Given the description of an element on the screen output the (x, y) to click on. 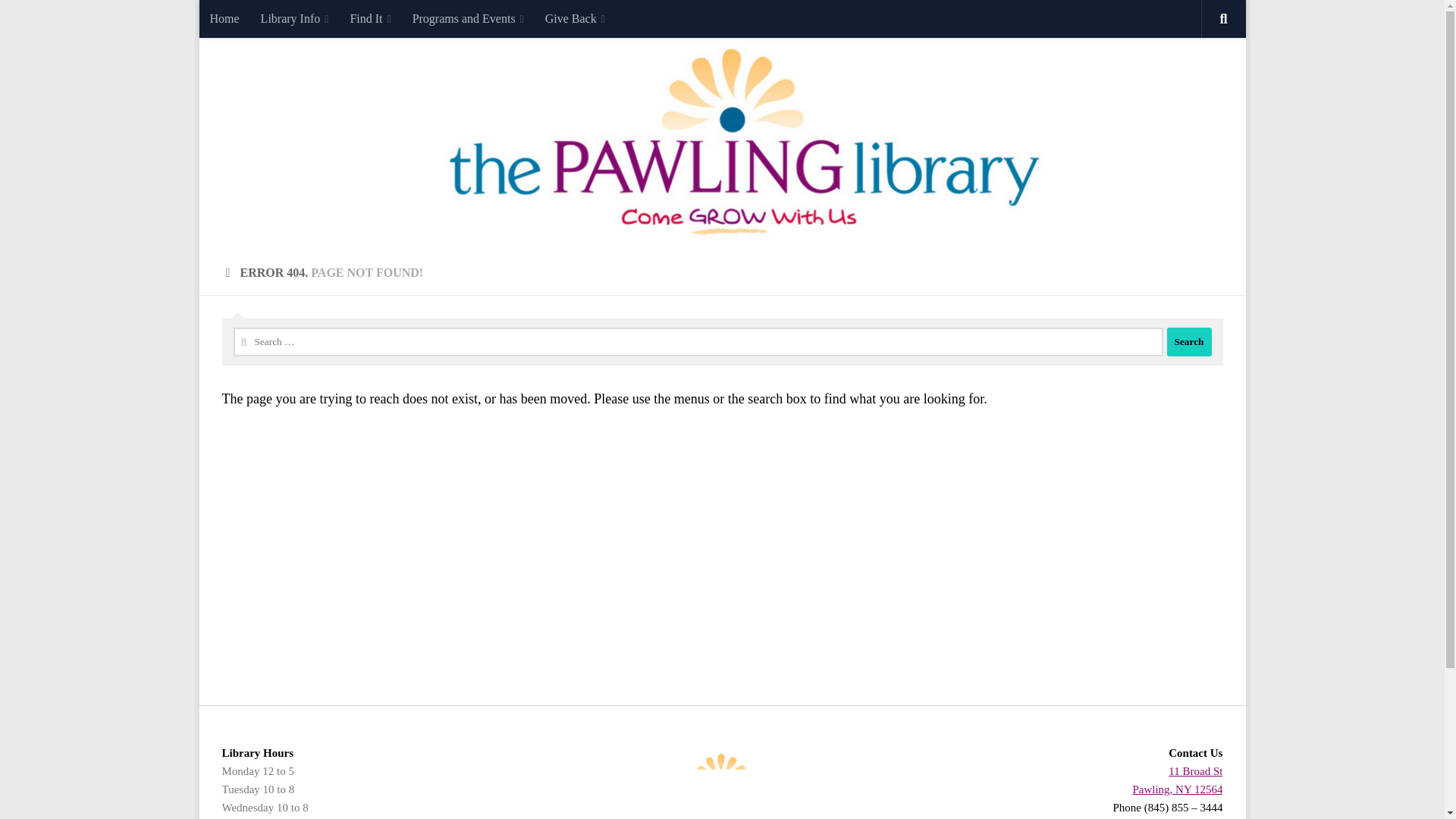
Skip to content (258, 20)
Search (1188, 341)
Search (1188, 341)
